Given the description of an element on the screen output the (x, y) to click on. 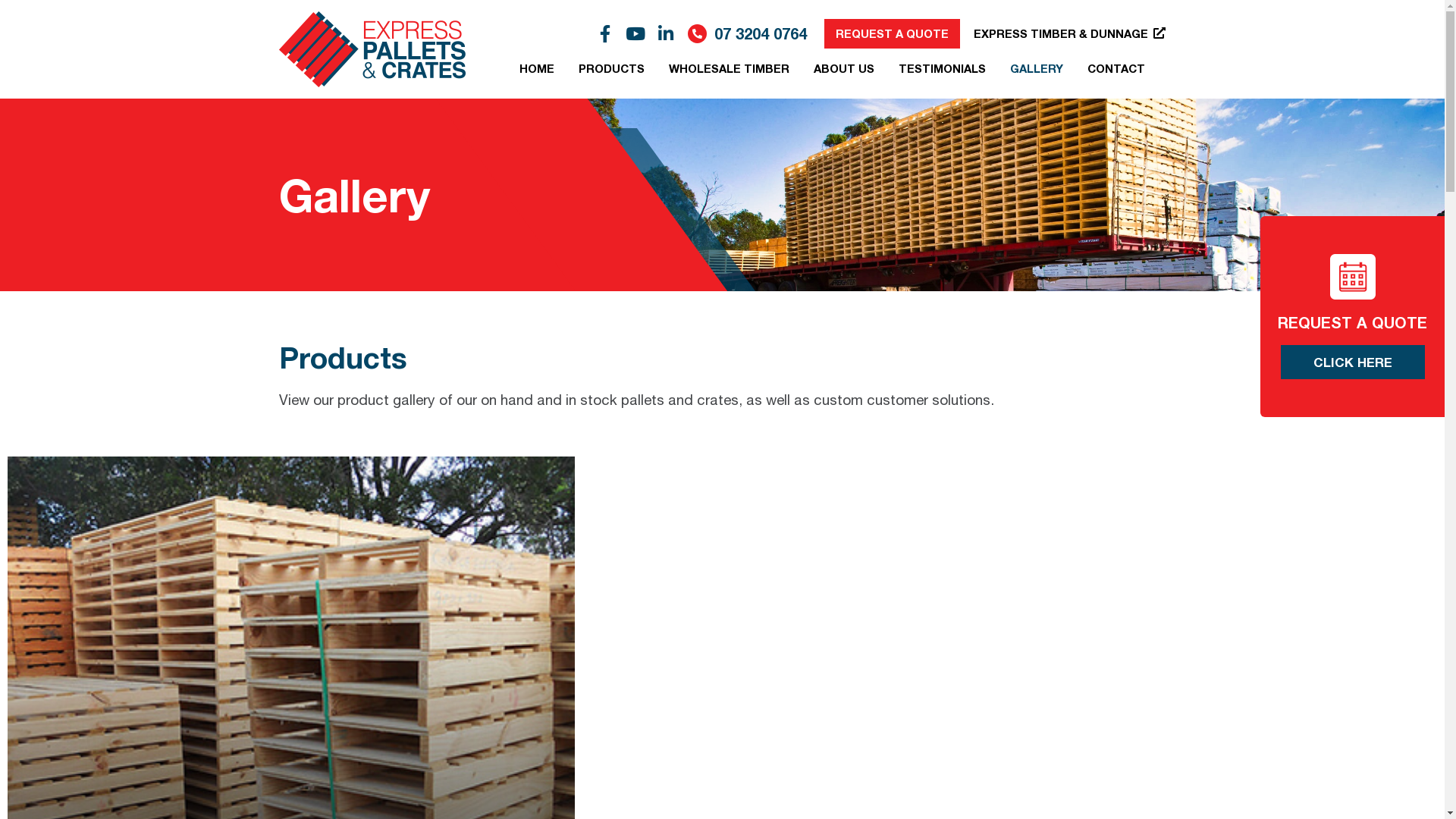
Request a Quote Element type: text (722, 620)
Request a Quote Element type: text (722, 568)
07 3204 0764 Element type: text (760, 33)
HOME Element type: text (536, 68)
TESTIMONIALS Element type: text (941, 68)
WHOLESALE TIMBER Element type: text (728, 68)
CONTACT Element type: text (1110, 68)
EXPRESS TIMBER & DUNNAGE Element type: text (1069, 33)
ABOUT US Element type: text (843, 68)
PRODUCTS Element type: text (611, 68)
CLICK HERE Element type: text (1352, 362)
GALLERY Element type: text (1036, 68)
REQUEST A QUOTE Element type: text (892, 33)
